Given the description of an element on the screen output the (x, y) to click on. 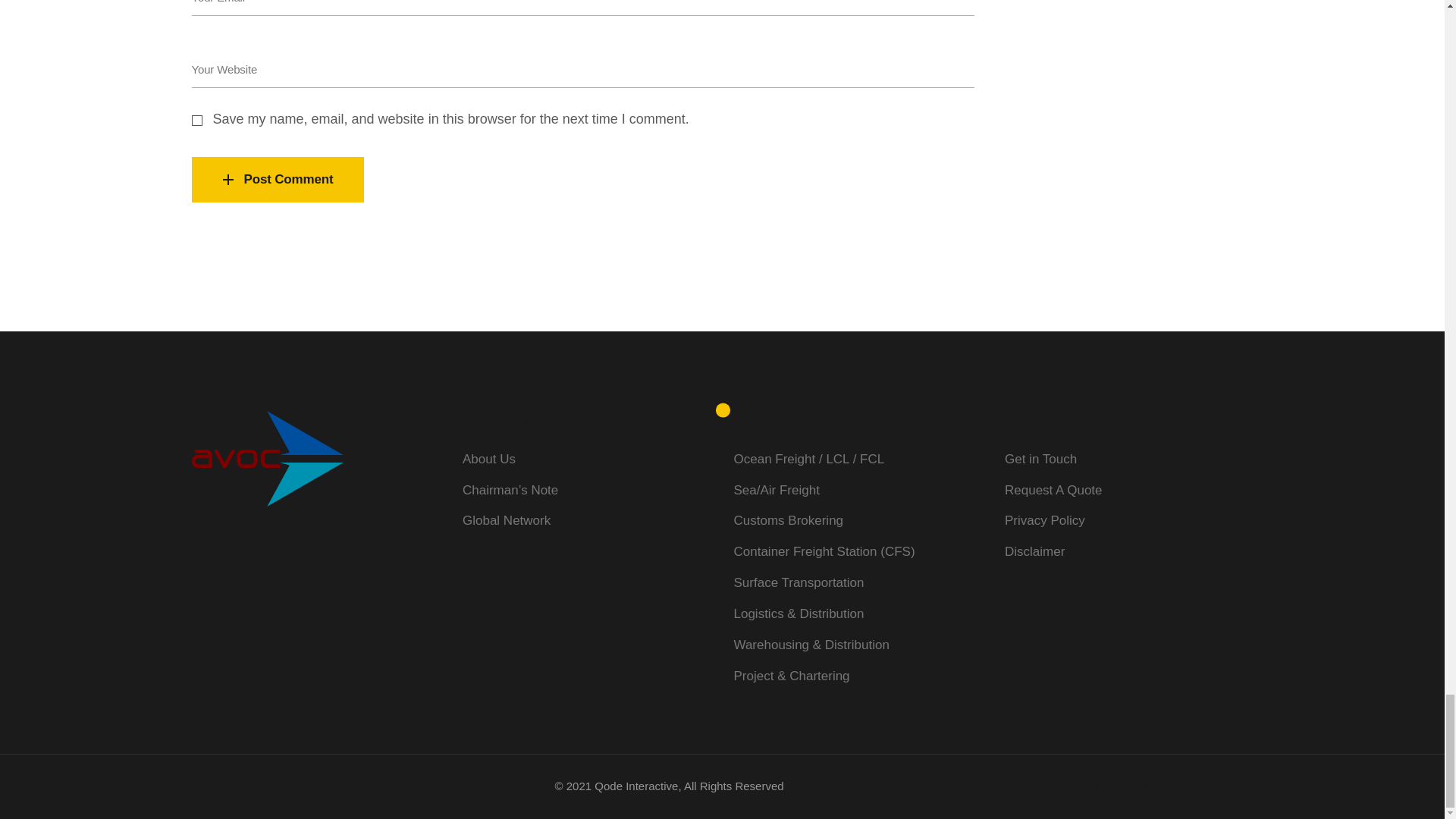
yes (196, 120)
